Given the description of an element on the screen output the (x, y) to click on. 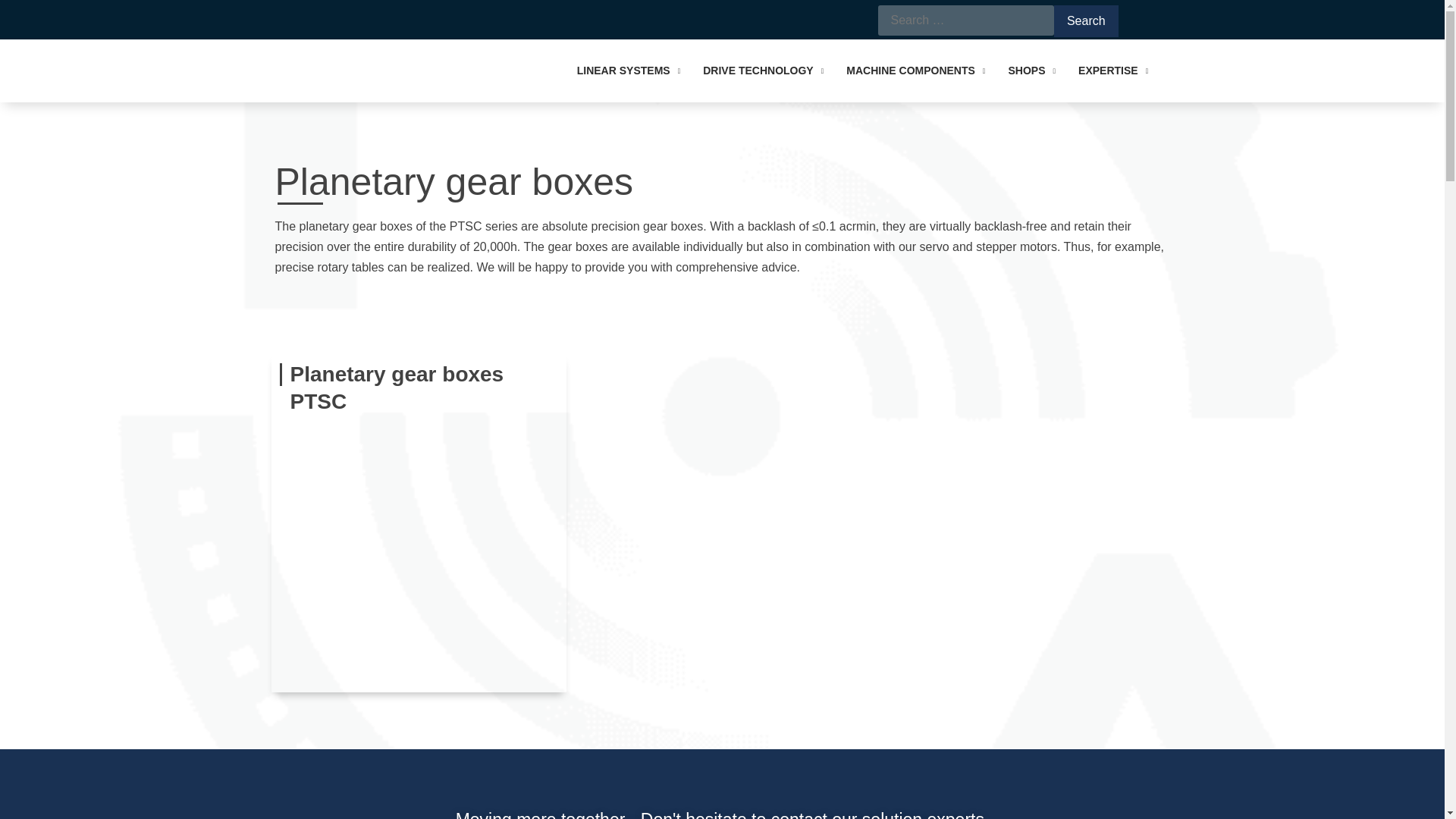
Search (1086, 20)
EXPERTISE (1124, 70)
Search (1086, 20)
DRIVE TECHNOLOGY (774, 70)
LINEAR SYSTEMS (639, 70)
MACHINE COMPONENTS (926, 70)
SHOPS (1042, 70)
Search (1086, 20)
